Given the description of an element on the screen output the (x, y) to click on. 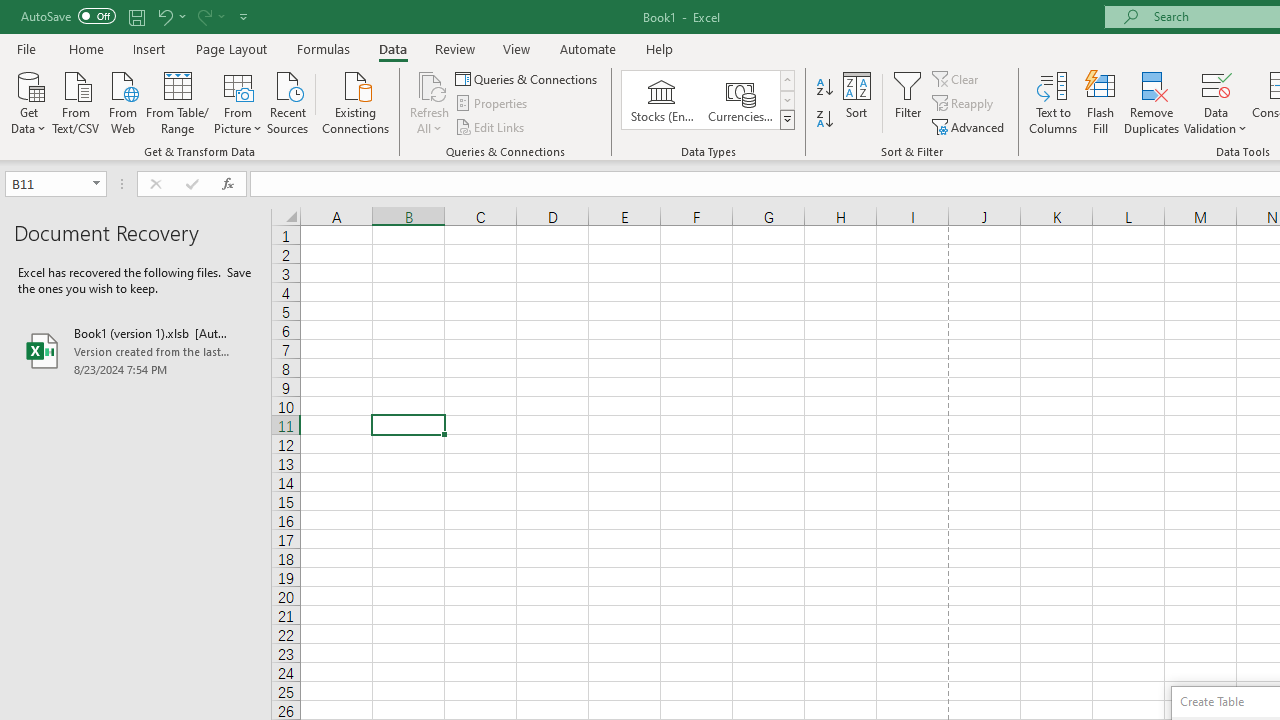
Sort Z to A (824, 119)
Review (454, 48)
Existing Connections (355, 101)
AutomationID: ConvertToLinkedEntity (708, 99)
Remove Duplicates (1151, 102)
Stocks (English) (662, 100)
From Picture (238, 101)
Insert (149, 48)
Sort A to Z (824, 87)
From Text/CSV (75, 101)
Flash Fill (1101, 102)
Data Types (786, 120)
